Given the description of an element on the screen output the (x, y) to click on. 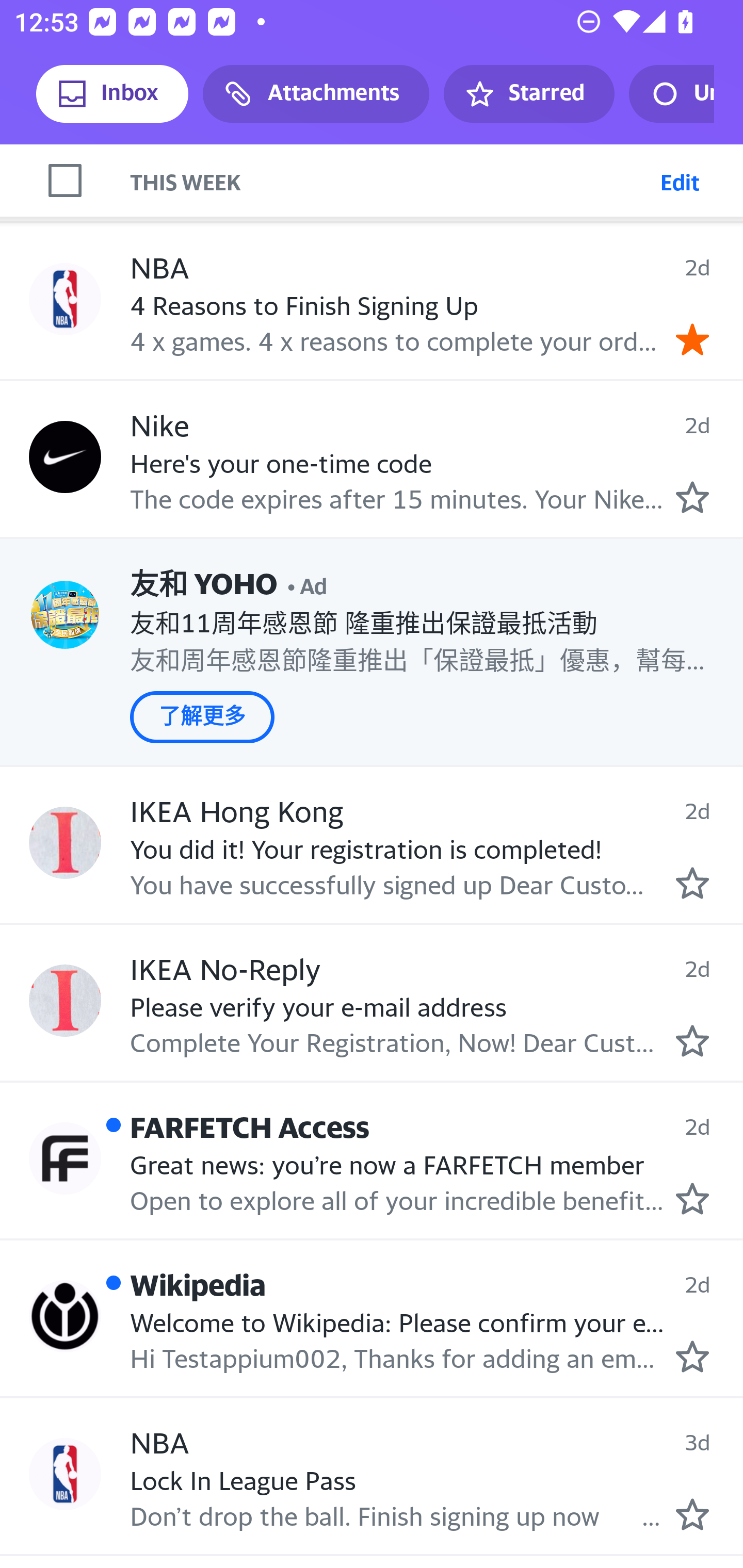
Attachments (315, 93)
Starred (528, 93)
Profile
NBA (64, 299)
Remove star. (692, 339)
Profile
Nike (64, 456)
Mark as starred. (692, 497)
Profile
IKEA Hong Kong (64, 842)
Mark as starred. (692, 883)
Profile
IKEA No-Reply (64, 1000)
Mark as starred. (692, 1040)
Profile
FARFETCH Access (64, 1158)
Mark as starred. (692, 1198)
Profile
Wikipedia (64, 1315)
Mark as starred. (692, 1357)
Profile
NBA (64, 1473)
Mark as starred. (692, 1513)
